Given the description of an element on the screen output the (x, y) to click on. 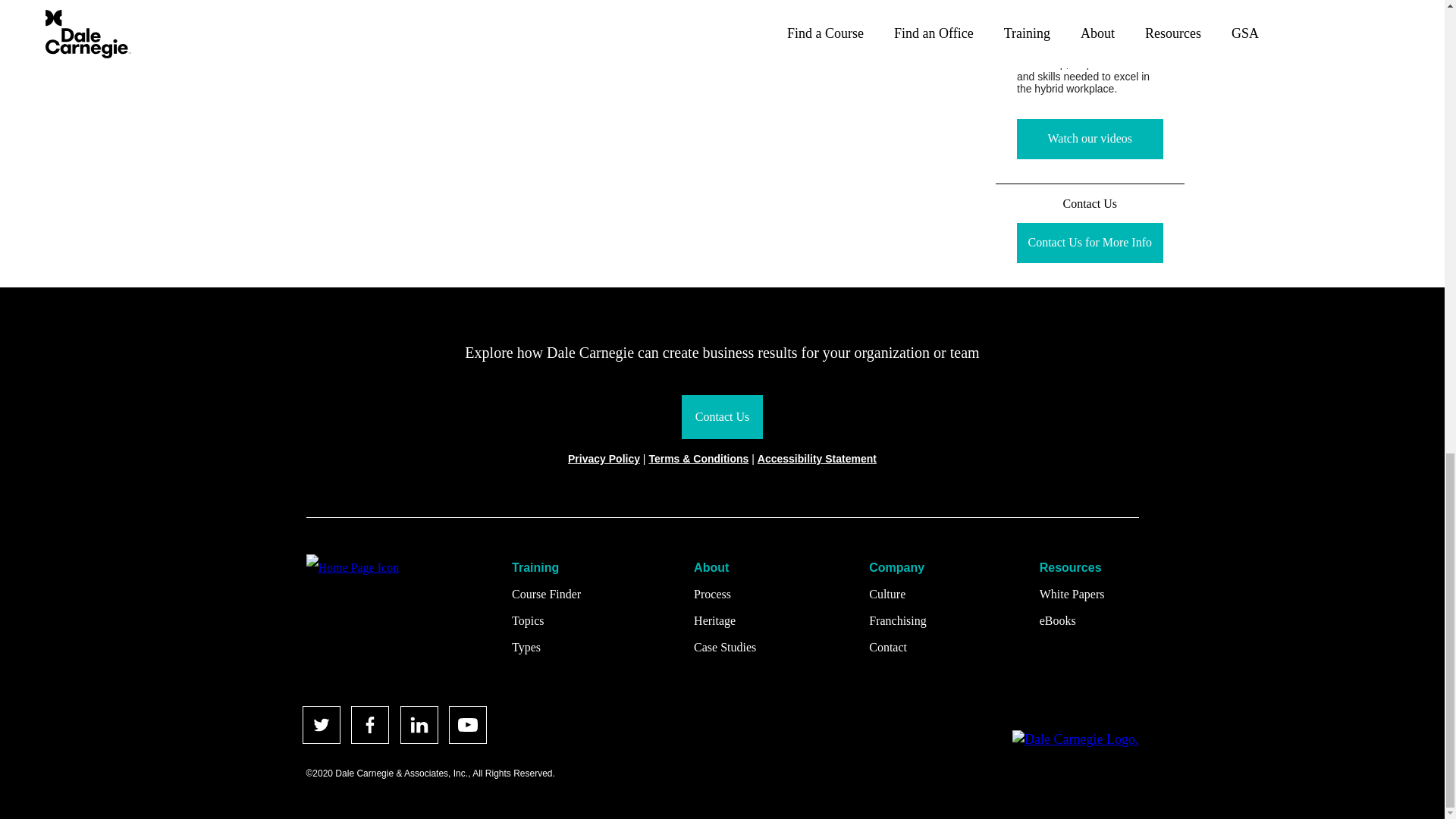
Contact Us for More Info (1089, 242)
Home Page (351, 567)
Watch our videos (1089, 138)
Privacy Policy (603, 458)
Accessibility Statement (816, 458)
Training (546, 567)
Contact Us (721, 416)
